Given the description of an element on the screen output the (x, y) to click on. 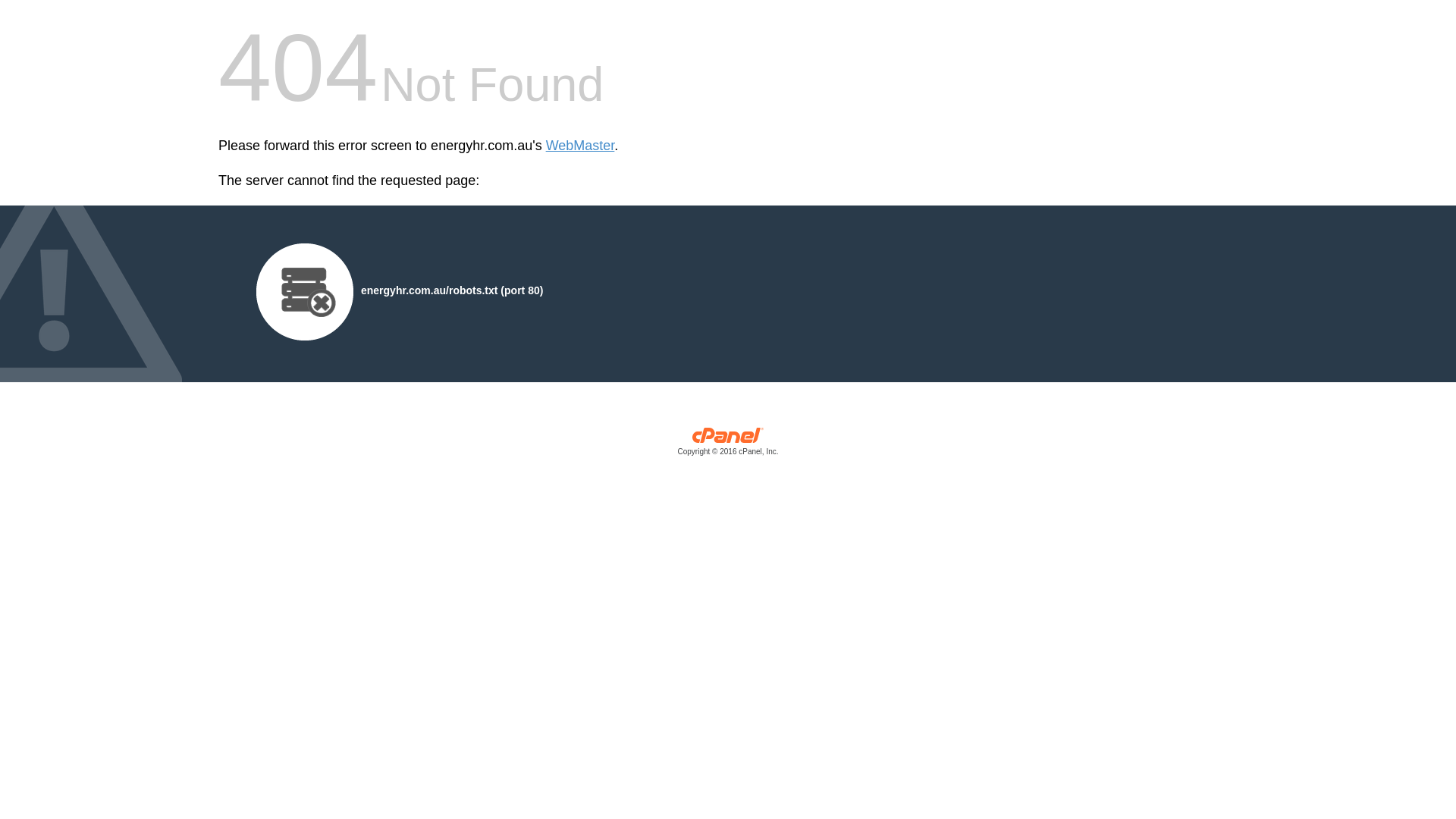
WebMaster Element type: text (580, 145)
